Given the description of an element on the screen output the (x, y) to click on. 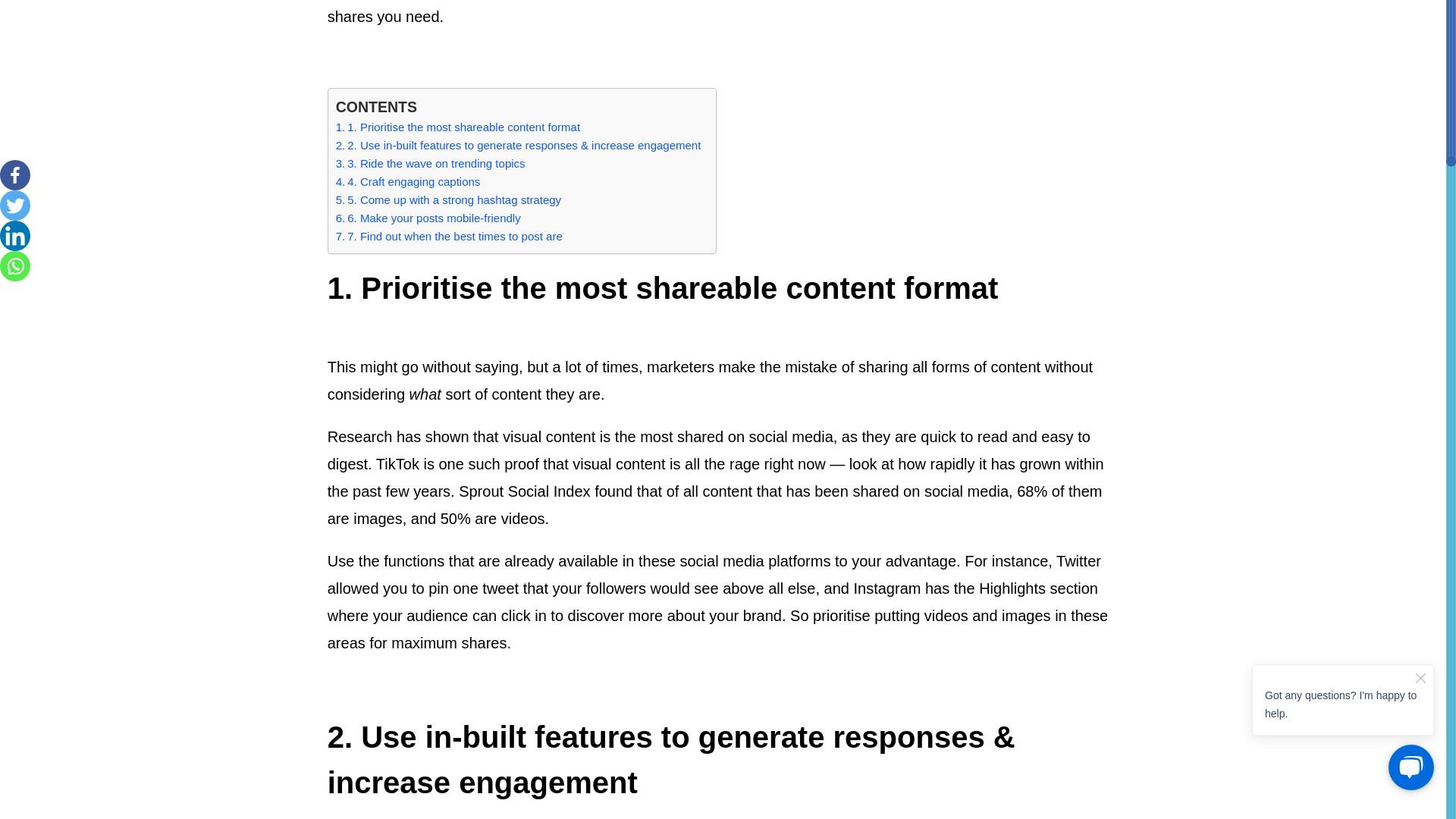
3. Ride the wave on trending topics (430, 163)
7. Find out when the best times to post are (449, 236)
4. Craft engaging captions (408, 181)
4. Craft engaging captions (408, 181)
1. Prioritise the most shareable content format (457, 126)
7. Find out when the best times to post are (449, 236)
3. Ride the wave on trending topics (430, 163)
6. Make your posts mobile-friendly (428, 218)
5. Come up with a strong hashtag strategy (448, 199)
5. Come up with a strong hashtag strategy (448, 199)
1. Prioritise the most shareable content format (457, 126)
6. Make your posts mobile-friendly (428, 218)
